Given the description of an element on the screen output the (x, y) to click on. 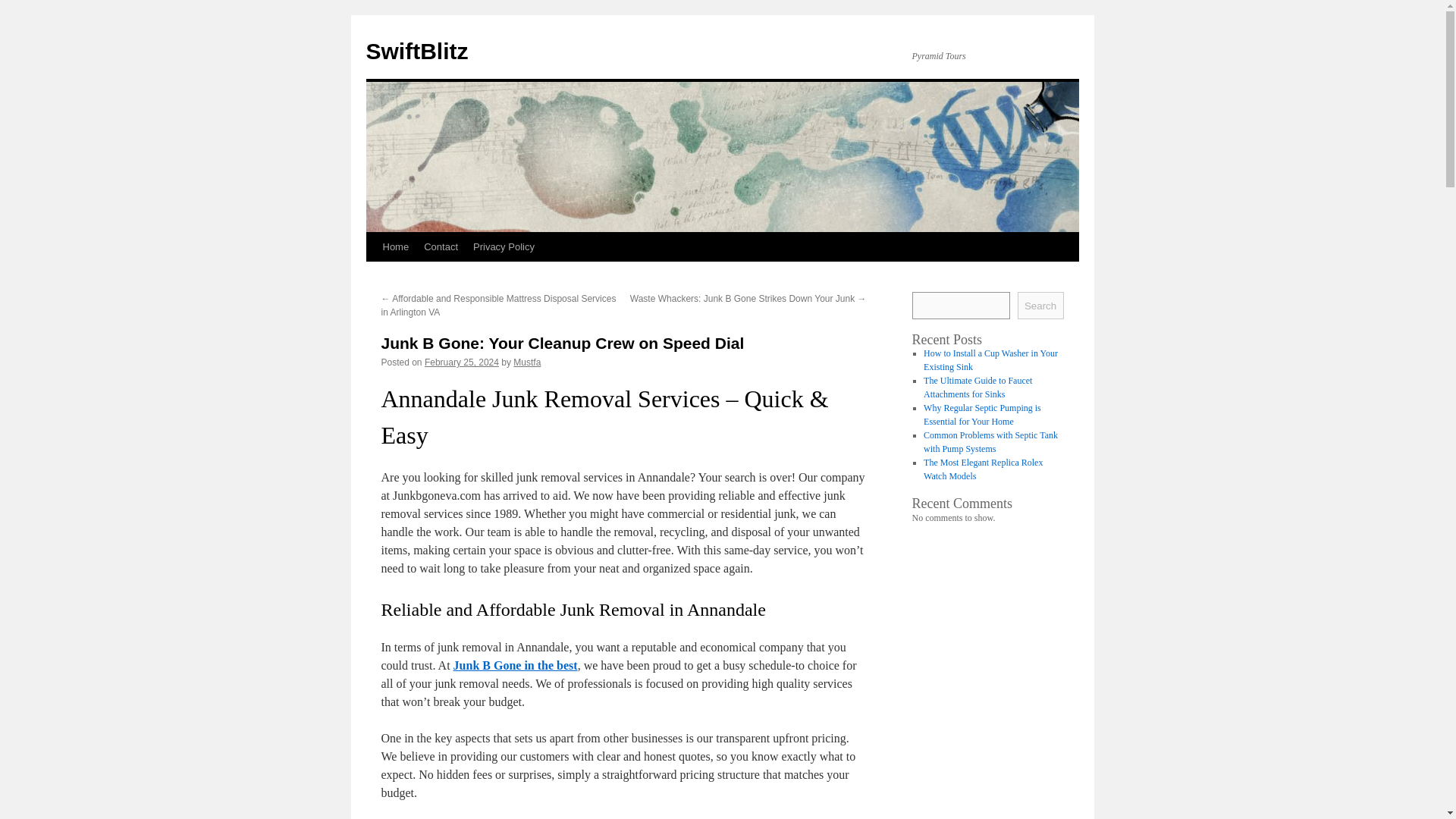
7:58 pm (462, 362)
The Ultimate Guide to Faucet Attachments for Sinks (977, 387)
How to Install a Cup Washer in Your Existing Sink (990, 360)
Junk B Gone in the best (515, 665)
View all posts by Mustfa (526, 362)
Privacy Policy (503, 246)
February 25, 2024 (462, 362)
Mustfa (526, 362)
Contact (440, 246)
The Most Elegant Replica Rolex Watch Models (982, 469)
